Given the description of an element on the screen output the (x, y) to click on. 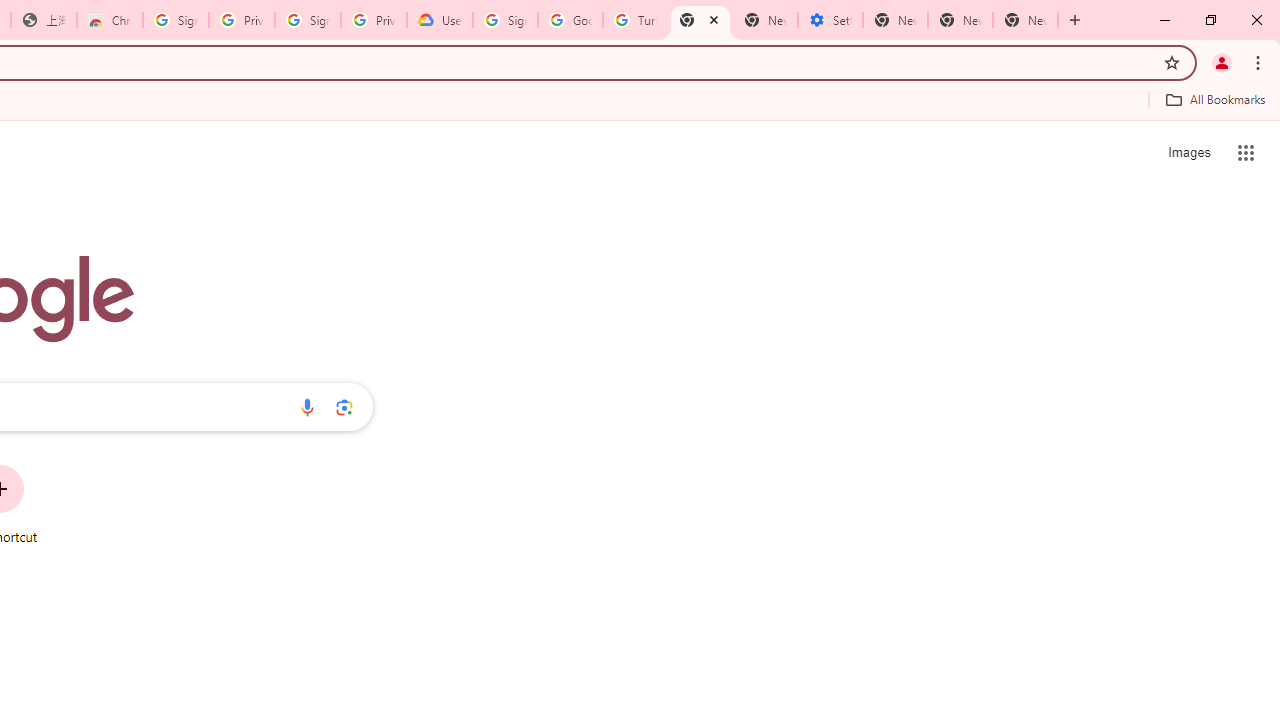
Settings - System (829, 20)
Sign in - Google Accounts (504, 20)
